Given the description of an element on the screen output the (x, y) to click on. 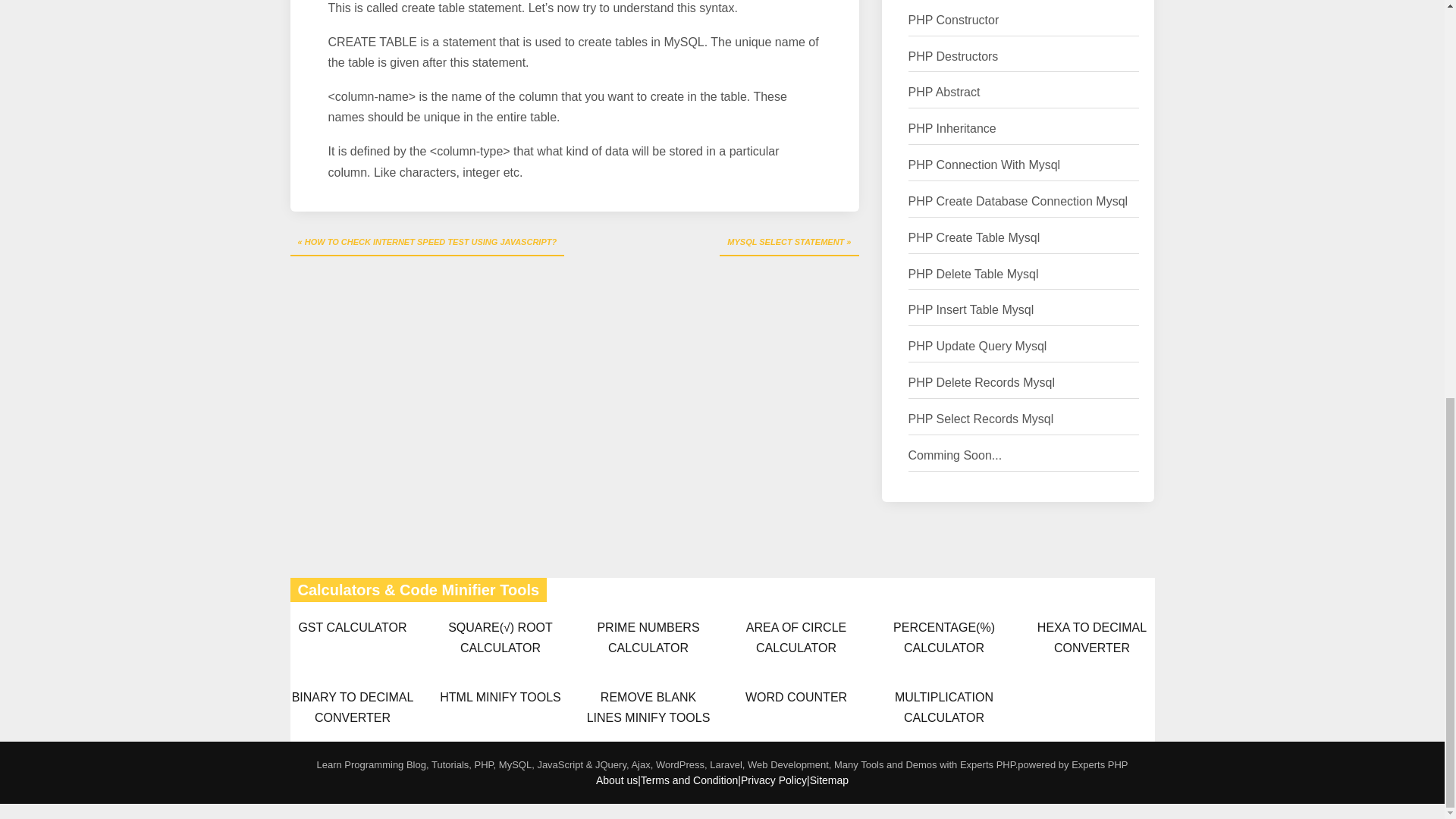
PHP Create Table Mysql (974, 238)
PHP Inheritance (951, 128)
PHP Constructor (953, 20)
PHP Destructors (953, 55)
PHP Connection With Mysql (984, 165)
MYSQL SELECT STATEMENT (789, 243)
HOW TO CHECK INTERNET SPEED TEST USING JAVASCRIPT? (426, 243)
PHP Abstract (943, 92)
PHP Create Database Connection Mysql (1018, 201)
